Given the description of an element on the screen output the (x, y) to click on. 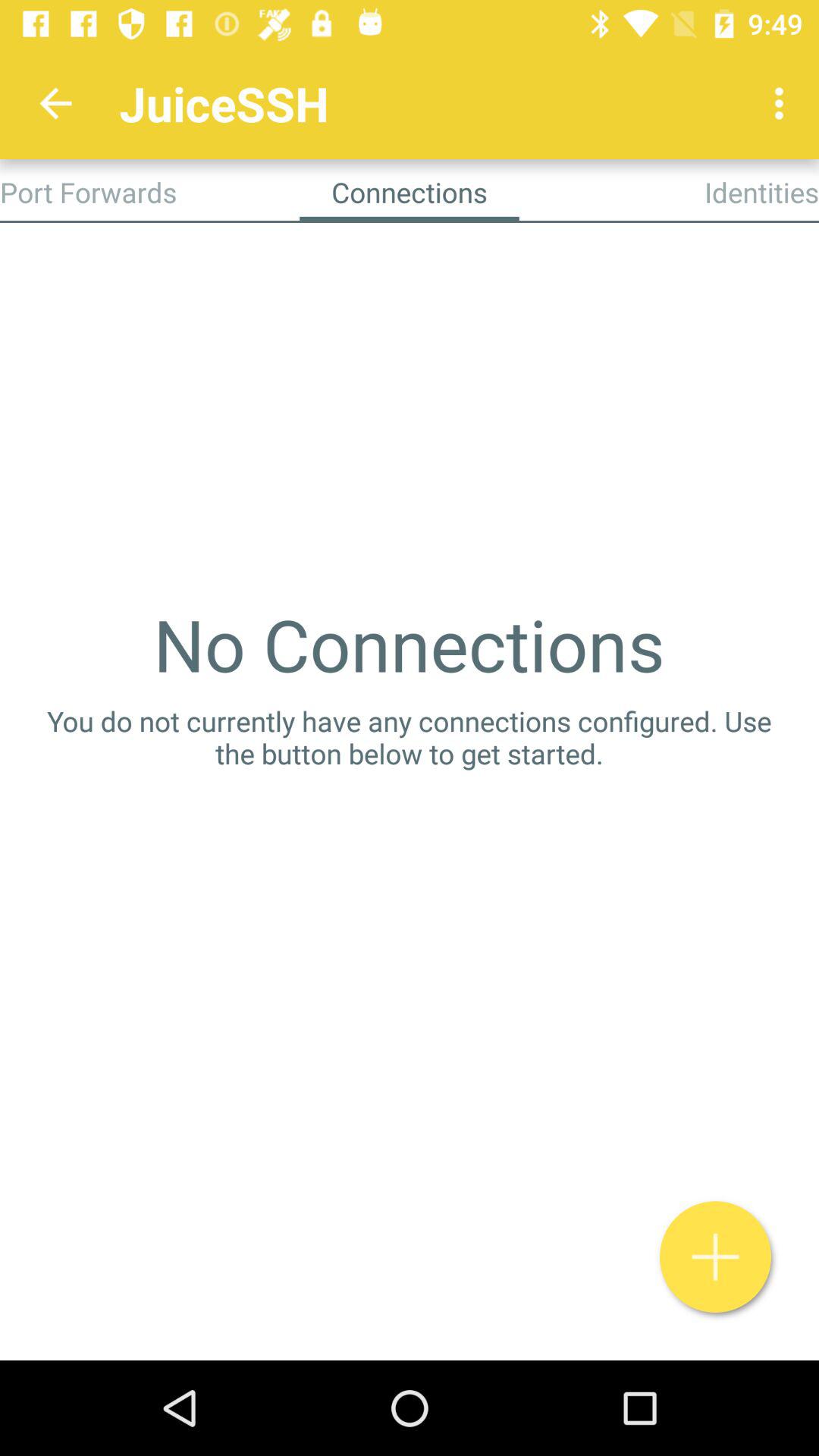
open identities icon (761, 192)
